Given the description of an element on the screen output the (x, y) to click on. 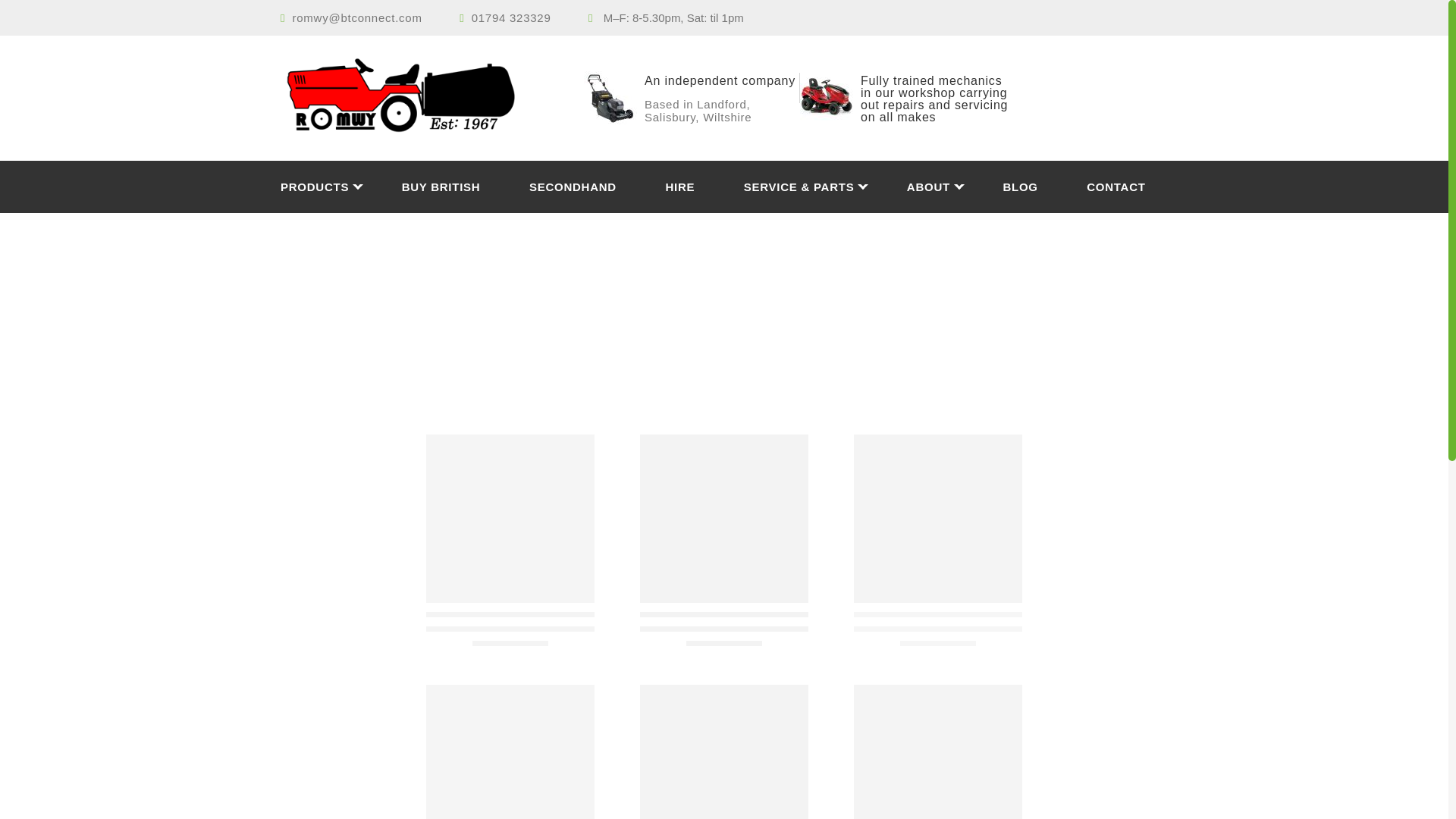
01794 323329 (511, 17)
BLOG (1043, 186)
Romwy Power Garden Machinery Ltd (420, 97)
PRODUCTS (339, 186)
CONTACT (1115, 186)
BUY BRITISH (463, 186)
SECONDHAND (595, 186)
ABOUT (952, 186)
HIRE (702, 186)
